Given the description of an element on the screen output the (x, y) to click on. 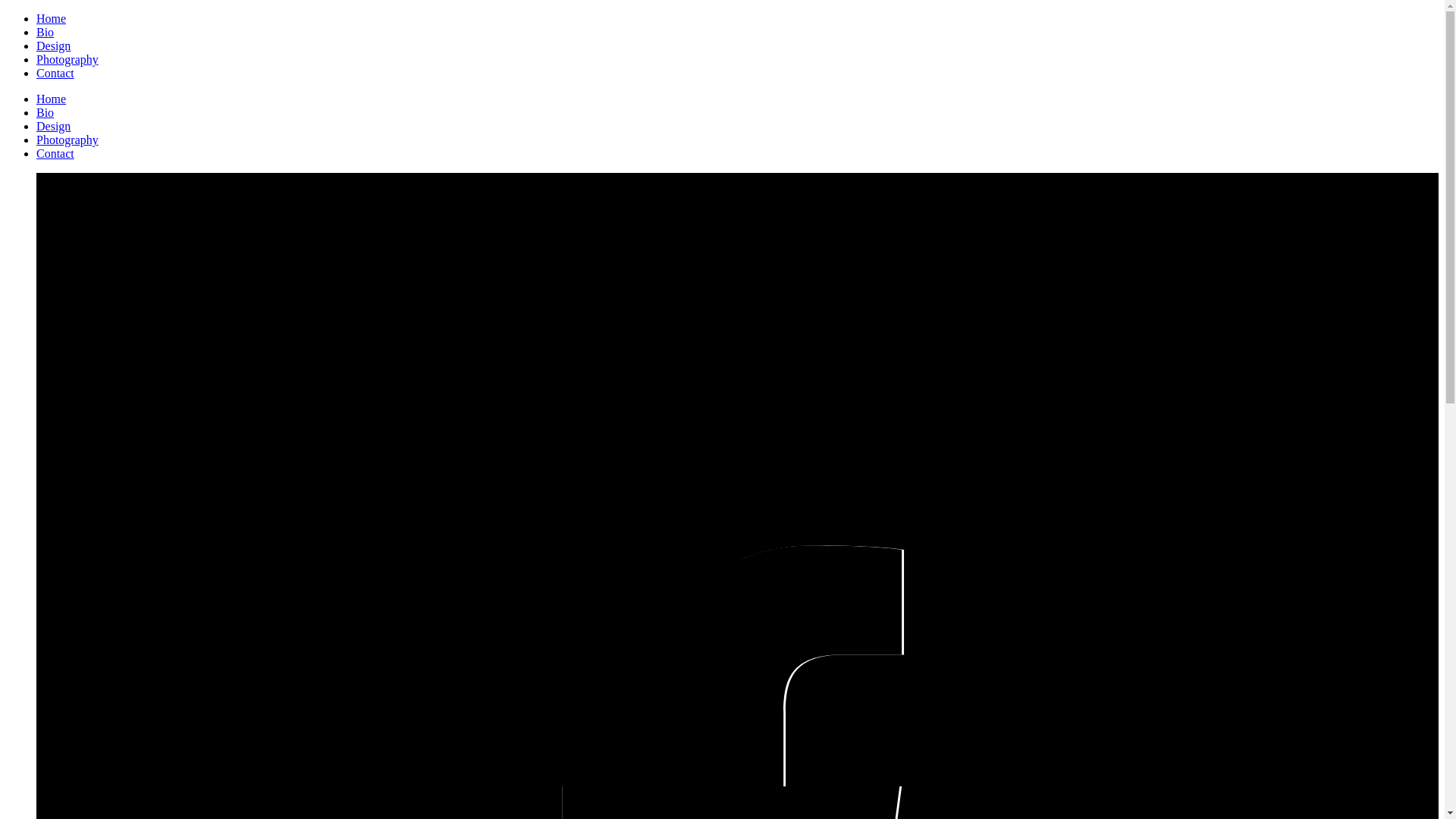
Design Element type: text (53, 45)
Bio Element type: text (44, 112)
Contact Element type: text (55, 72)
Photography Element type: text (67, 139)
Design Element type: text (53, 125)
Bio Element type: text (44, 31)
Photography Element type: text (67, 59)
Home Element type: text (50, 98)
Home Element type: text (50, 18)
Contact Element type: text (55, 153)
